Given the description of an element on the screen output the (x, y) to click on. 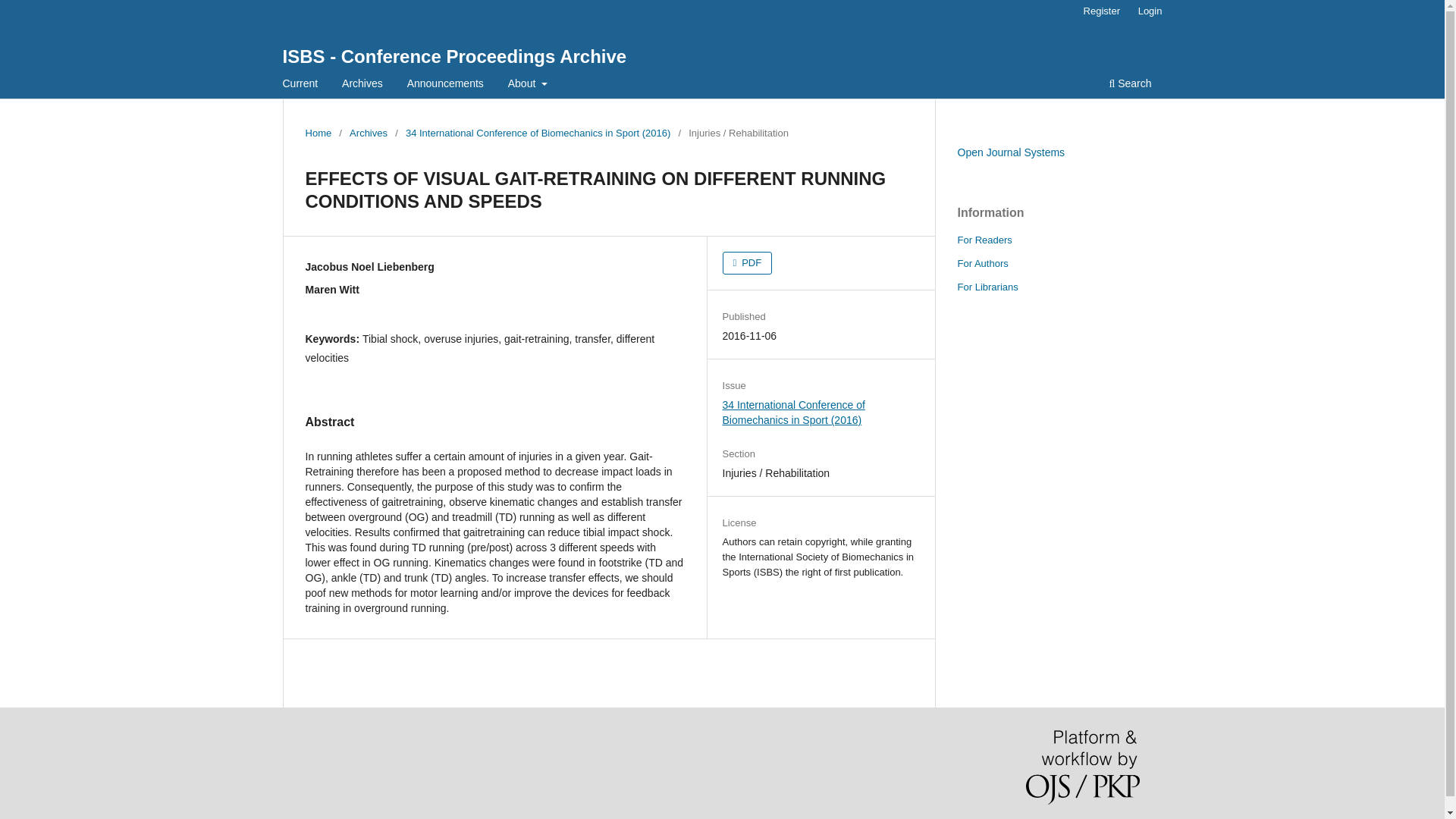
Archives (368, 133)
Current (300, 85)
Login (1150, 11)
PDF (747, 262)
For Readers (983, 239)
Announcements (445, 85)
ISBS - Conference Proceedings Archive (454, 56)
About (527, 85)
Open Journal Systems (1010, 152)
Register (1100, 11)
